Given the description of an element on the screen output the (x, y) to click on. 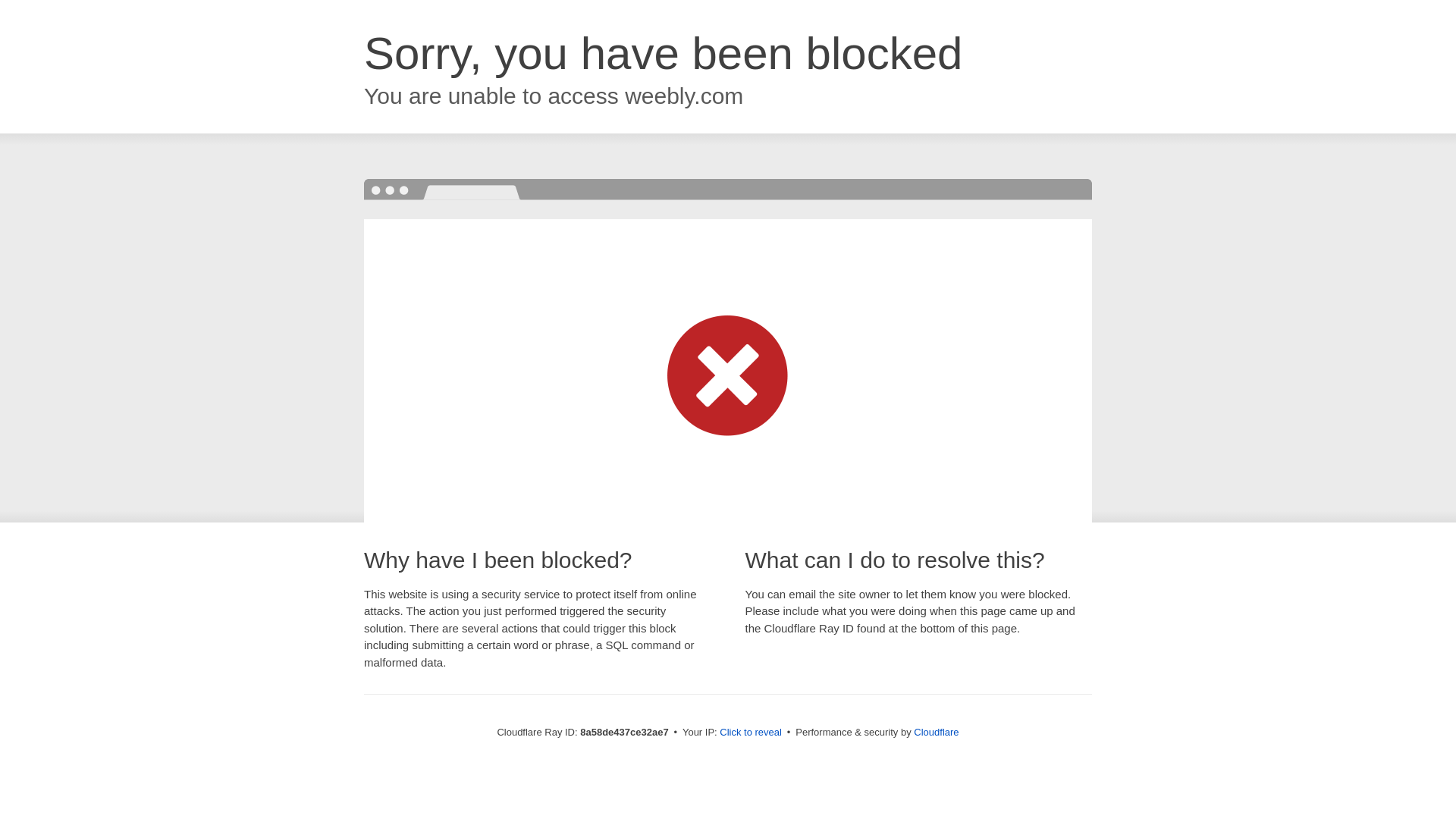
Cloudflare (936, 731)
Click to reveal (750, 732)
